Given the description of an element on the screen output the (x, y) to click on. 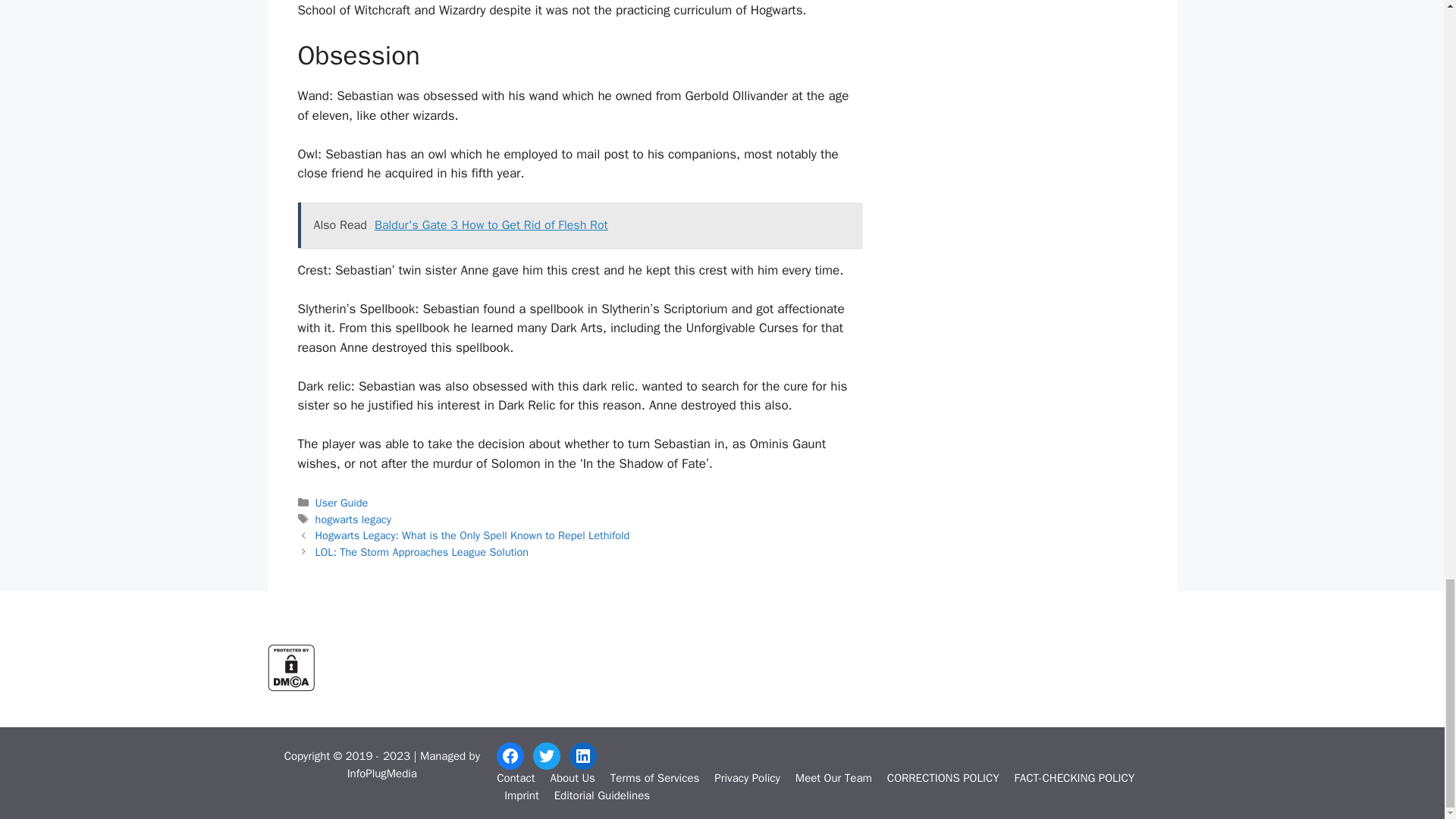
Twitter (546, 755)
Facebook (510, 755)
FACT-CHECKING POLICY (1074, 777)
About Us (572, 777)
LinkedIn (582, 755)
Meet Our Team (833, 777)
DMCA.com Protection Status (290, 687)
Imprint (520, 795)
hogwarts legacy (353, 519)
User Guide (341, 502)
